Given the description of an element on the screen output the (x, y) to click on. 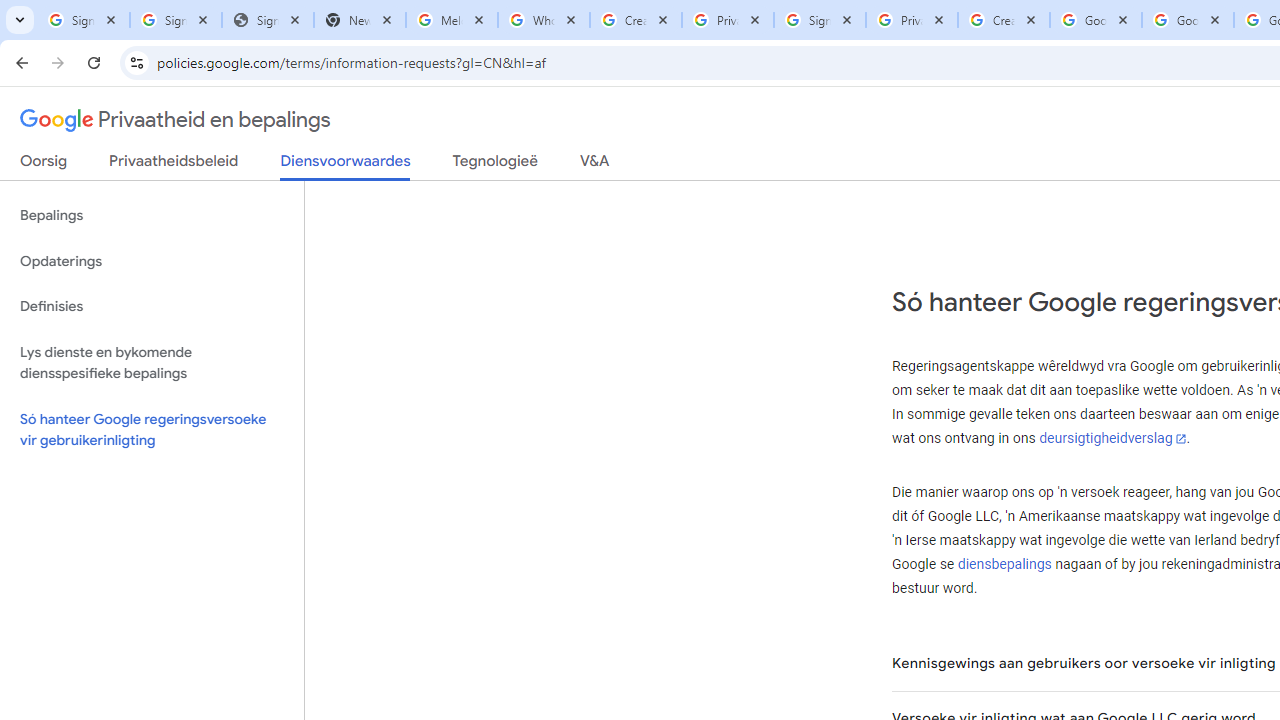
Privaatheidsbeleid (173, 165)
deursigtigheidverslag (1112, 438)
